Given the description of an element on the screen output the (x, y) to click on. 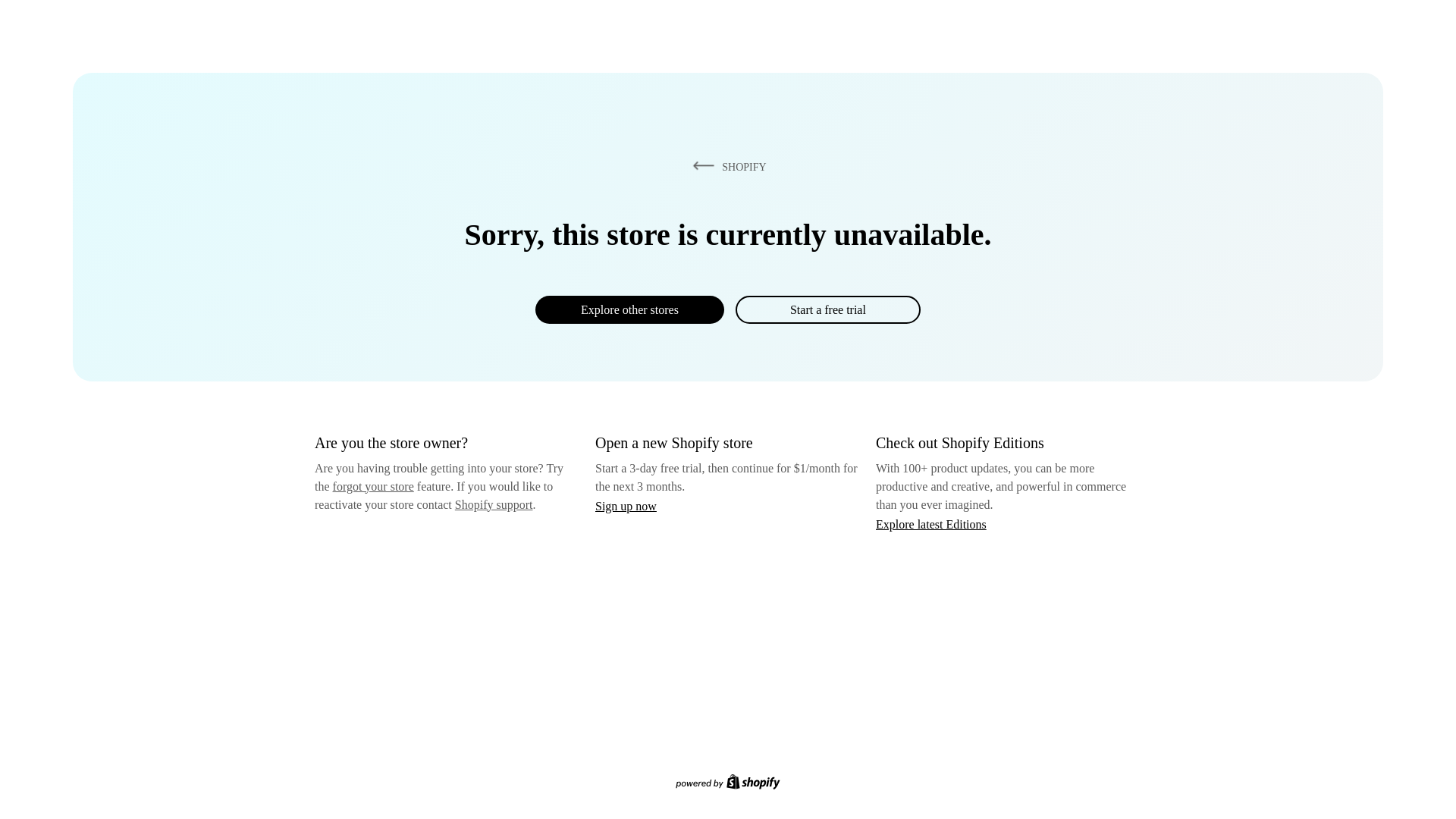
Start a free trial (827, 309)
Shopify support (493, 504)
Explore other stores (629, 309)
Explore latest Editions (931, 523)
Sign up now (625, 505)
forgot your store (373, 486)
SHOPIFY (726, 166)
